Given the description of an element on the screen output the (x, y) to click on. 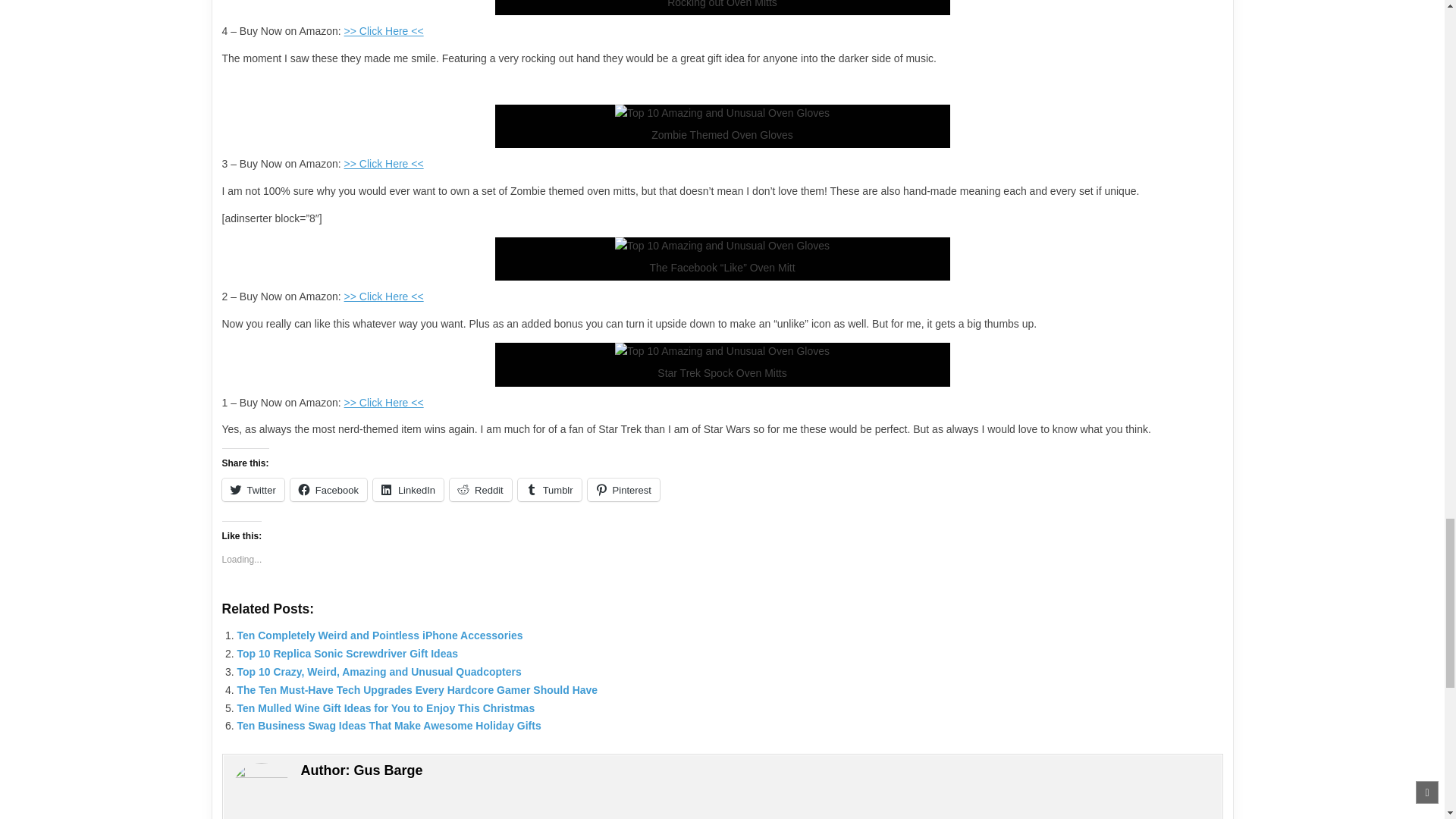
Click to share on Twitter (252, 489)
Top 10 Replica Sonic Screwdriver Gift Ideas (346, 653)
Top 10 Crazy, Weird, Amazing and Unusual Quadcopters (378, 671)
LinkedIn (408, 489)
Reddit (480, 489)
Twitter (252, 489)
Ten Completely Weird and Pointless iPhone Accessories (378, 635)
Tumblr (549, 489)
Facebook (327, 489)
Pinterest (623, 489)
